Given the description of an element on the screen output the (x, y) to click on. 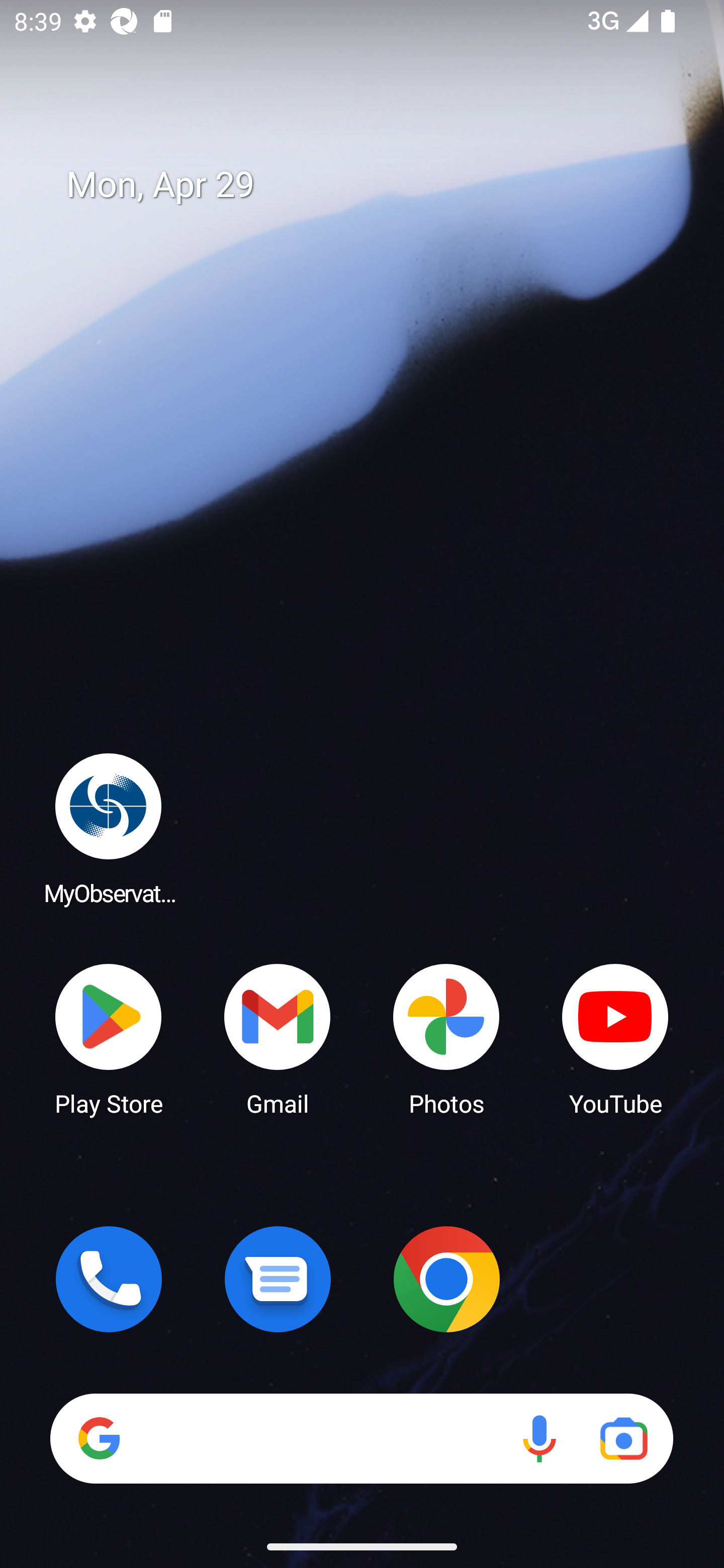
Mon, Apr 29 (375, 184)
MyObservatory (108, 828)
Play Store (108, 1038)
Gmail (277, 1038)
Photos (445, 1038)
YouTube (615, 1038)
Phone (108, 1279)
Messages (277, 1279)
Chrome (446, 1279)
Voice search (539, 1438)
Google Lens (623, 1438)
